Given the description of an element on the screen output the (x, y) to click on. 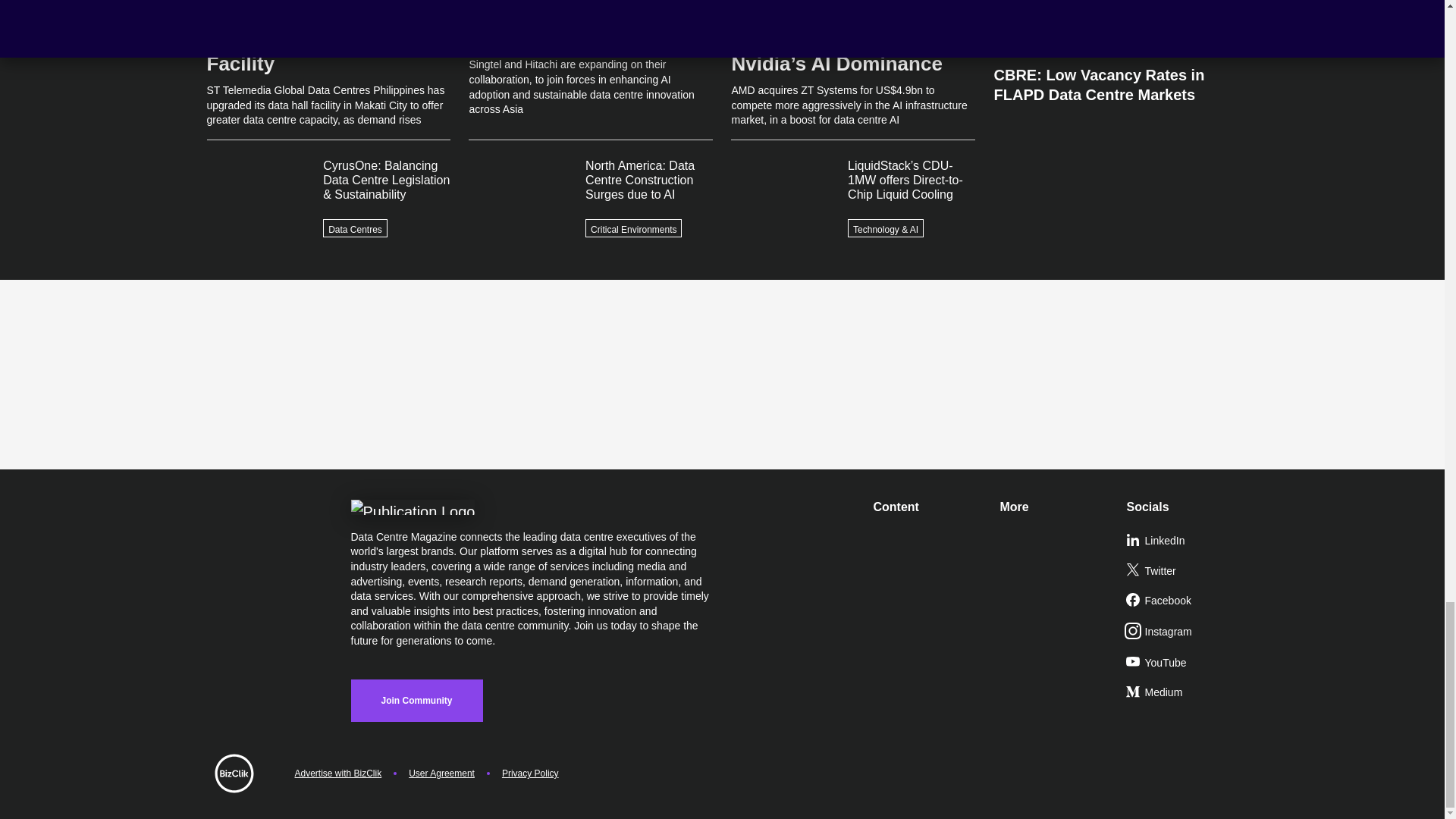
LinkedIn (1182, 541)
Facebook (1182, 601)
How the Gen AI Boom is Fuelling the Edge Data Centre Market (1114, 26)
Instagram (1182, 632)
Join Community (415, 700)
CBRE: Low Vacancy Rates in FLAPD Data Centre Markets (1114, 78)
Twitter (1182, 571)
YouTube (1182, 663)
